Given the description of an element on the screen output the (x, y) to click on. 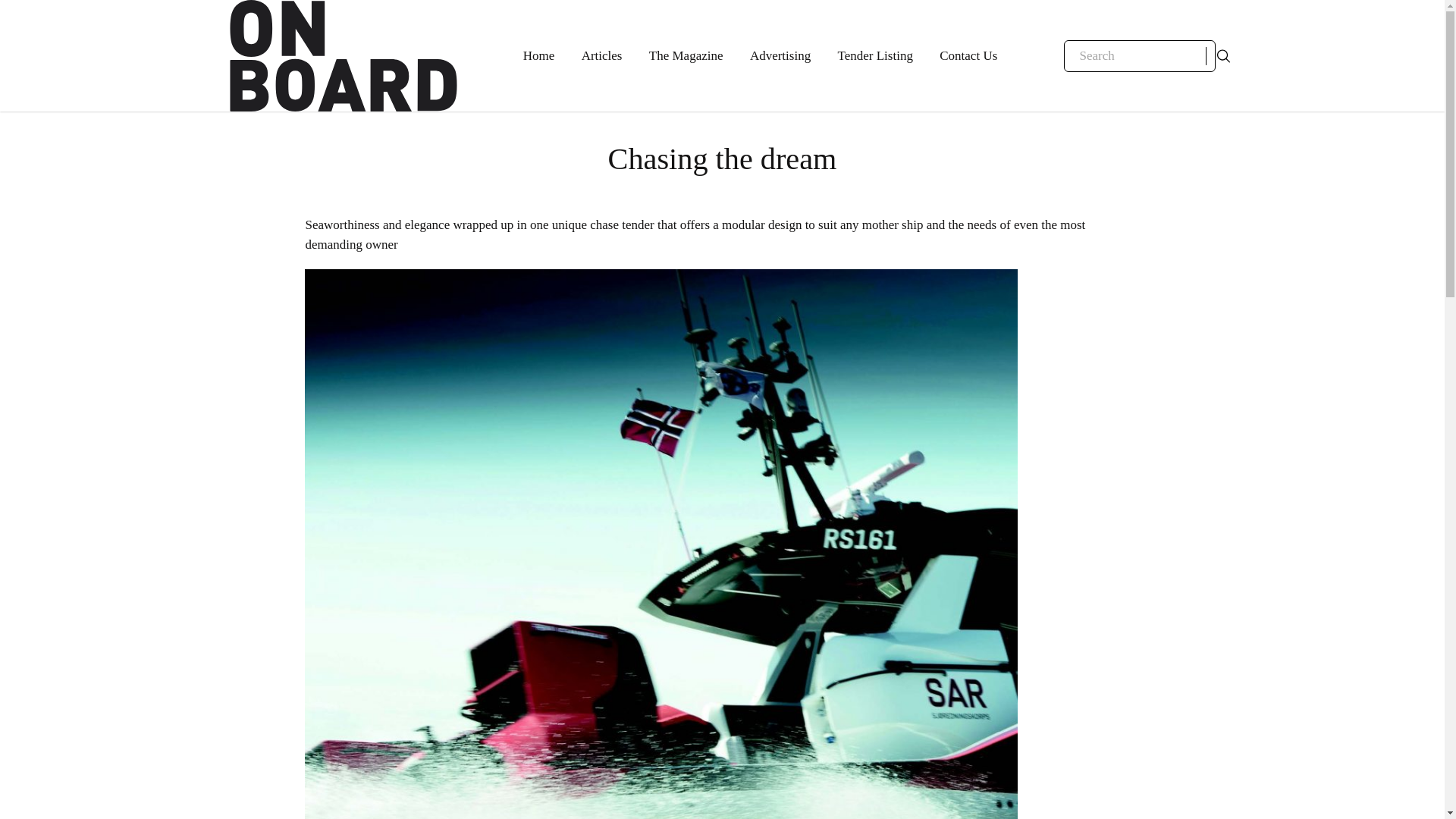
Home (538, 55)
The Magazine (686, 55)
Advertising (779, 55)
Contact Us (968, 55)
Articles (601, 55)
Tender Listing (875, 55)
